Given the description of an element on the screen output the (x, y) to click on. 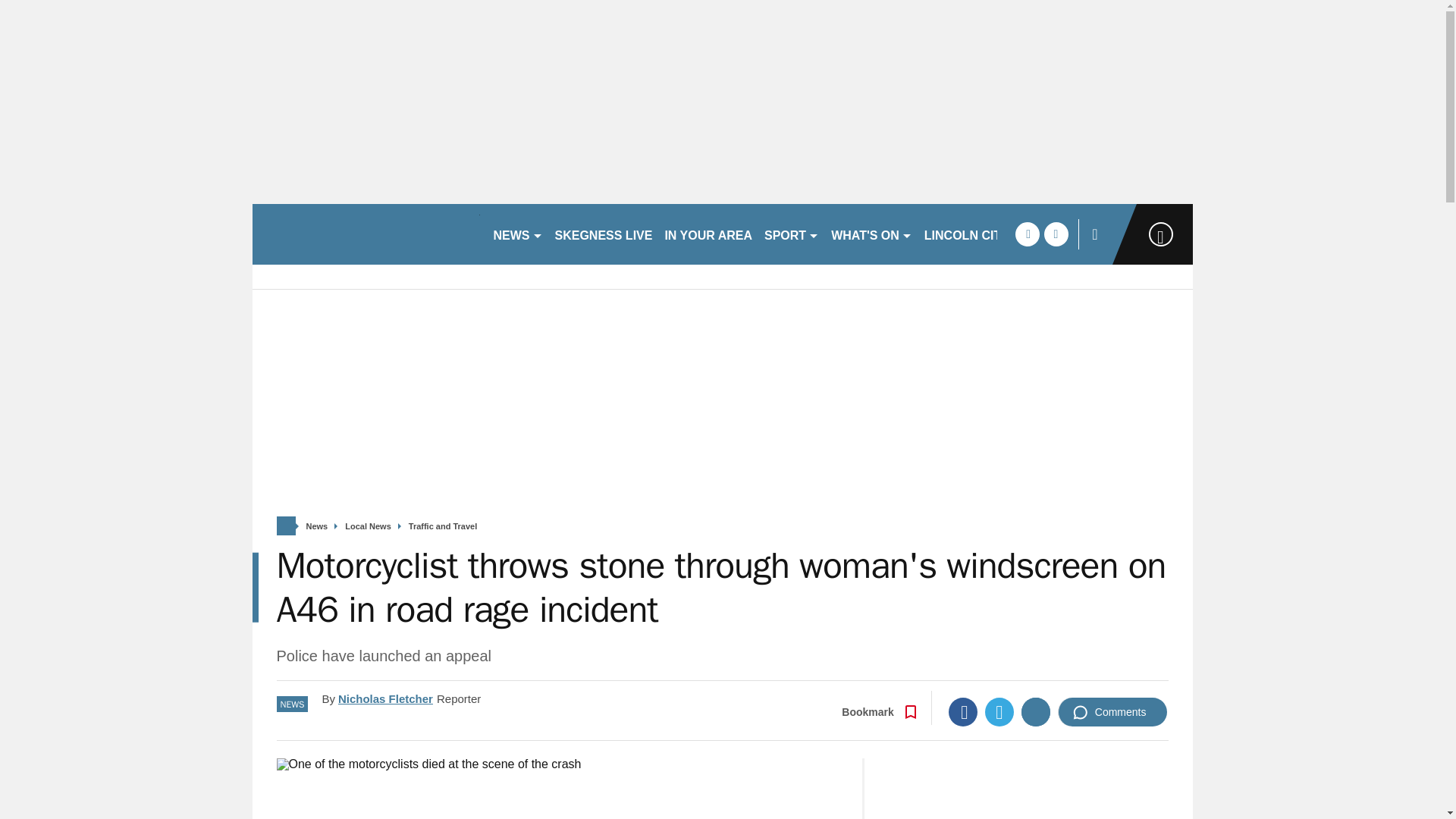
LINCOLN CITY FC (975, 233)
Twitter (999, 711)
lincolnshirelive (365, 233)
NEWS (517, 233)
twitter (1055, 233)
facebook (1026, 233)
Comments (1112, 711)
WHAT'S ON (871, 233)
SKEGNESS LIVE (603, 233)
IN YOUR AREA (708, 233)
